Given the description of an element on the screen output the (x, y) to click on. 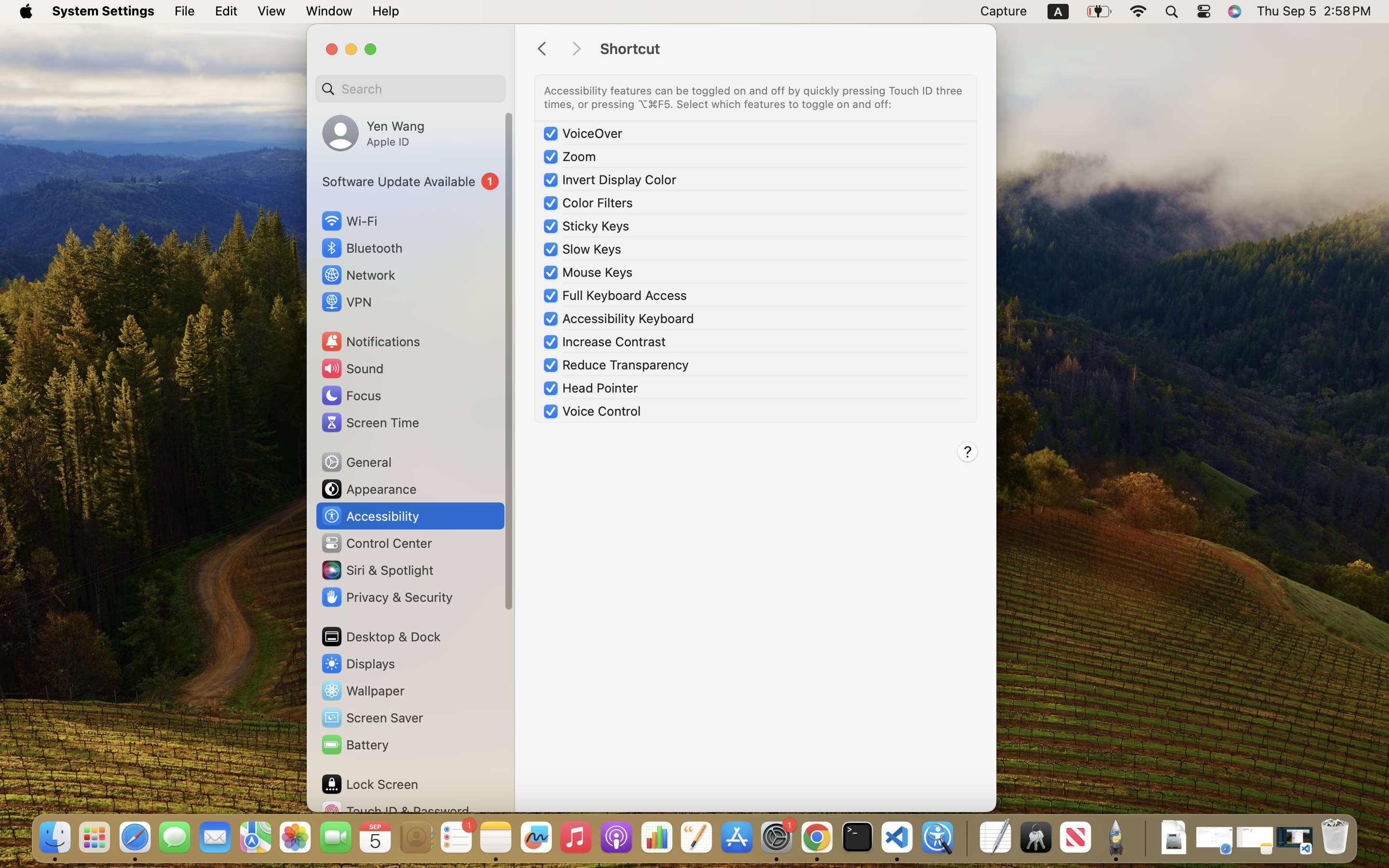
Battery Element type: AXStaticText (354, 744)
Accessibility Element type: AXStaticText (369, 515)
Control Center Element type: AXStaticText (376, 542)
General Element type: AXStaticText (355, 461)
Screen Time Element type: AXStaticText (369, 422)
